Given the description of an element on the screen output the (x, y) to click on. 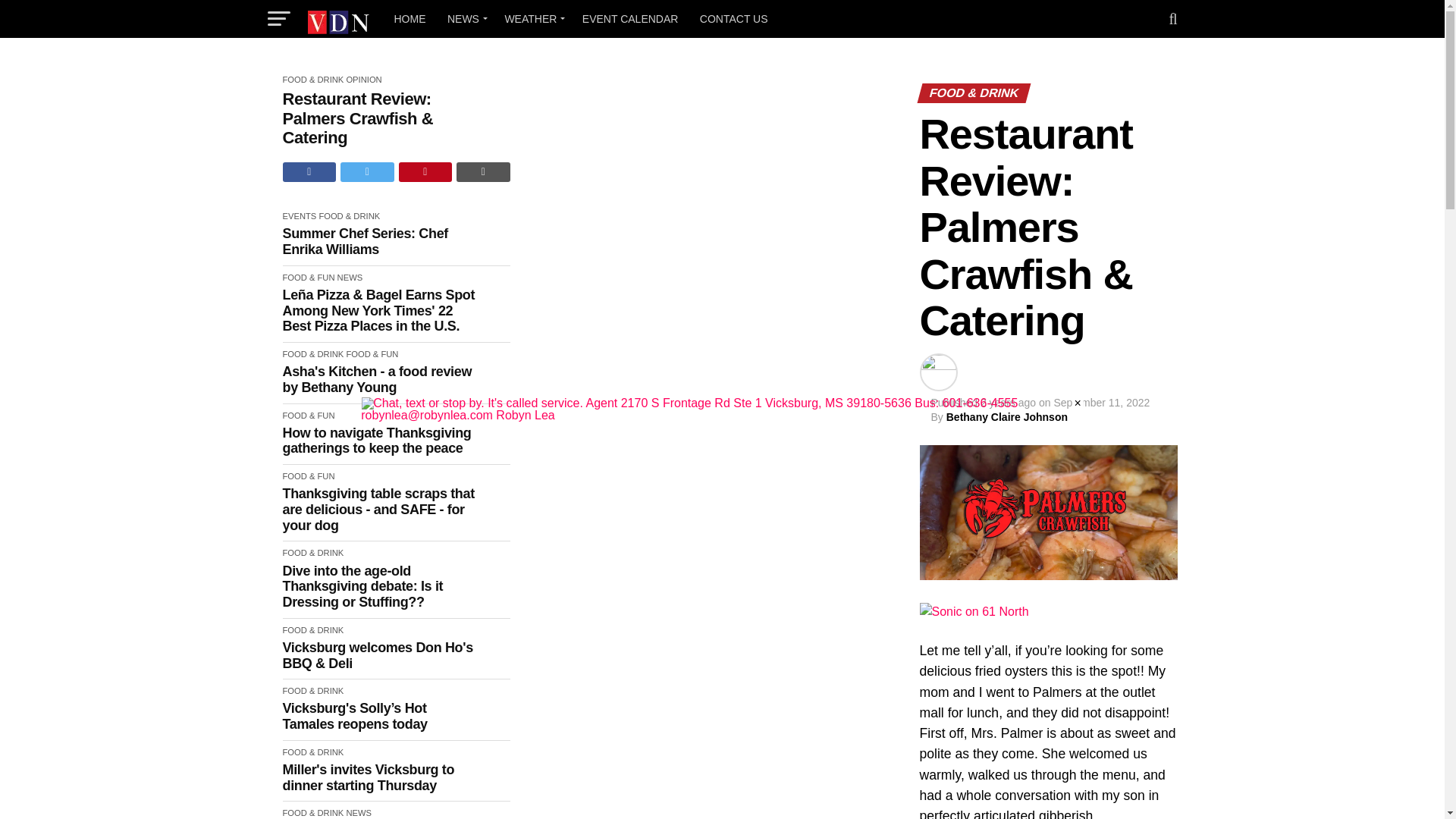
WEATHER (532, 18)
Share on Facebook (309, 171)
CONTACT US (733, 18)
EVENT CALENDAR (630, 18)
Tweet This Post (367, 171)
HOME (410, 18)
Pin This Post (425, 171)
OPINION (363, 79)
NEWS (465, 18)
